Given the description of an element on the screen output the (x, y) to click on. 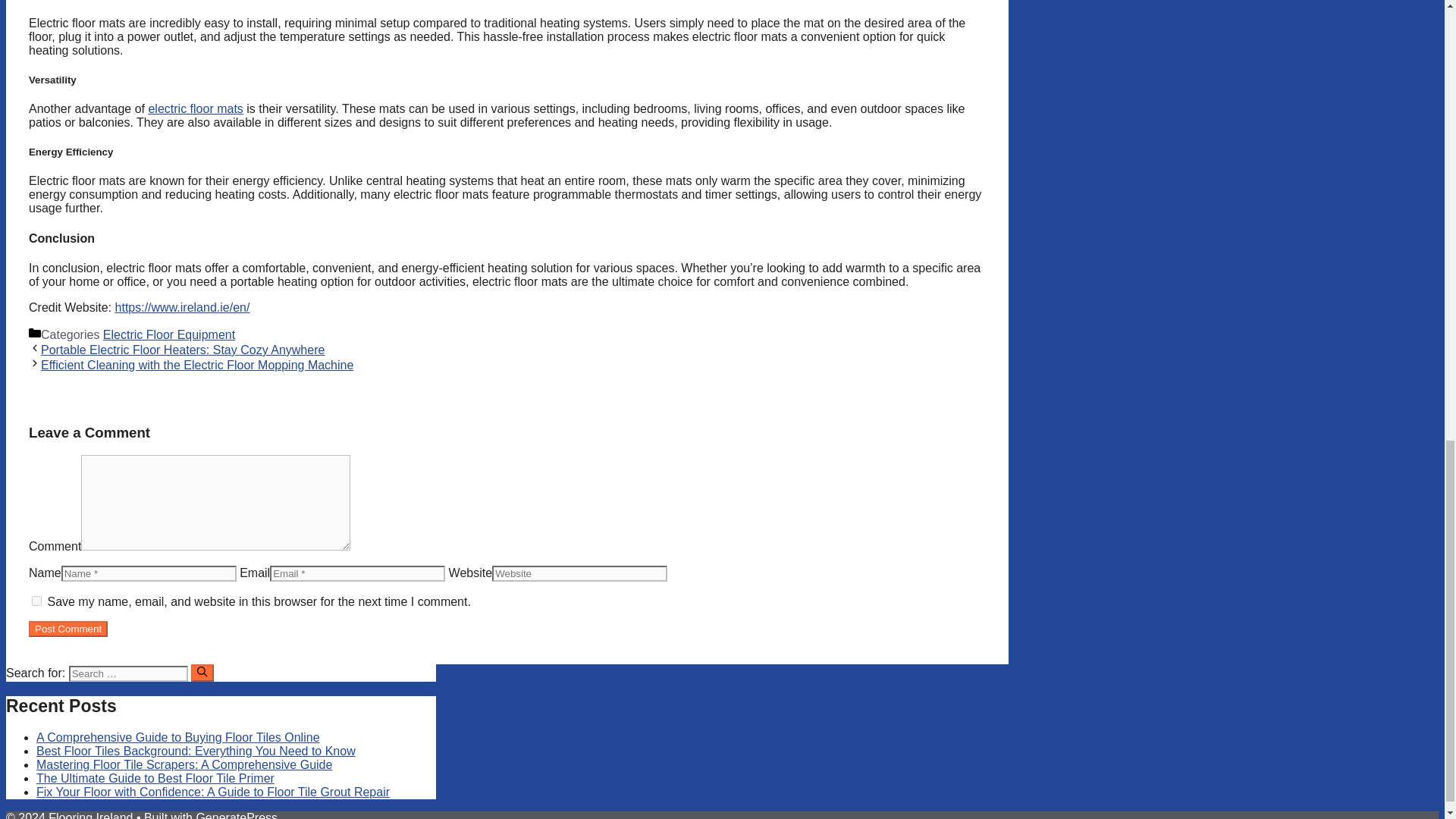
yes (37, 601)
The Ultimate Guide to Best Floor Tile Primer (155, 778)
Search for: (127, 673)
A Comprehensive Guide to Buying Floor Tiles Online (178, 737)
Electric Floor Equipment (168, 334)
Portable Electric Floor Heaters: Stay Cozy Anywhere (182, 349)
Mastering Floor Tile Scrapers: A Comprehensive Guide (183, 764)
Post Comment (68, 628)
Post Comment (68, 628)
Best Floor Tiles Background: Everything You Need to Know (195, 750)
Efficient Cleaning with the Electric Floor Mopping Machine (196, 364)
electric floor mats (195, 108)
